Given the description of an element on the screen output the (x, y) to click on. 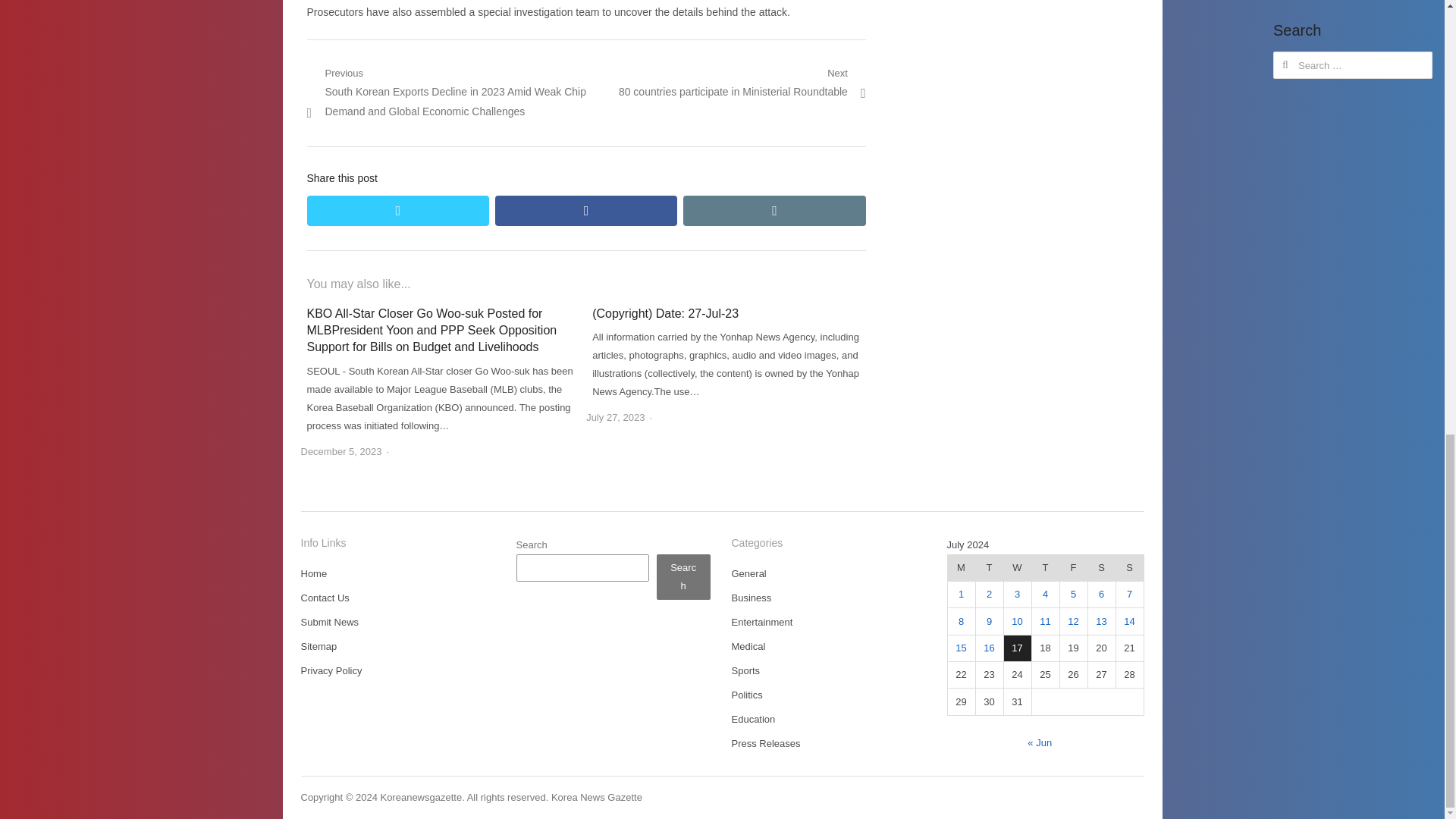
twitter (396, 210)
Share on twitter (396, 210)
email (773, 210)
facebook (586, 210)
Wednesday (1016, 567)
Friday (1073, 567)
Sunday (1128, 567)
Share on facebook (586, 210)
Thursday (1044, 567)
Tuesday (989, 567)
Saturday (1101, 567)
